Given the description of an element on the screen output the (x, y) to click on. 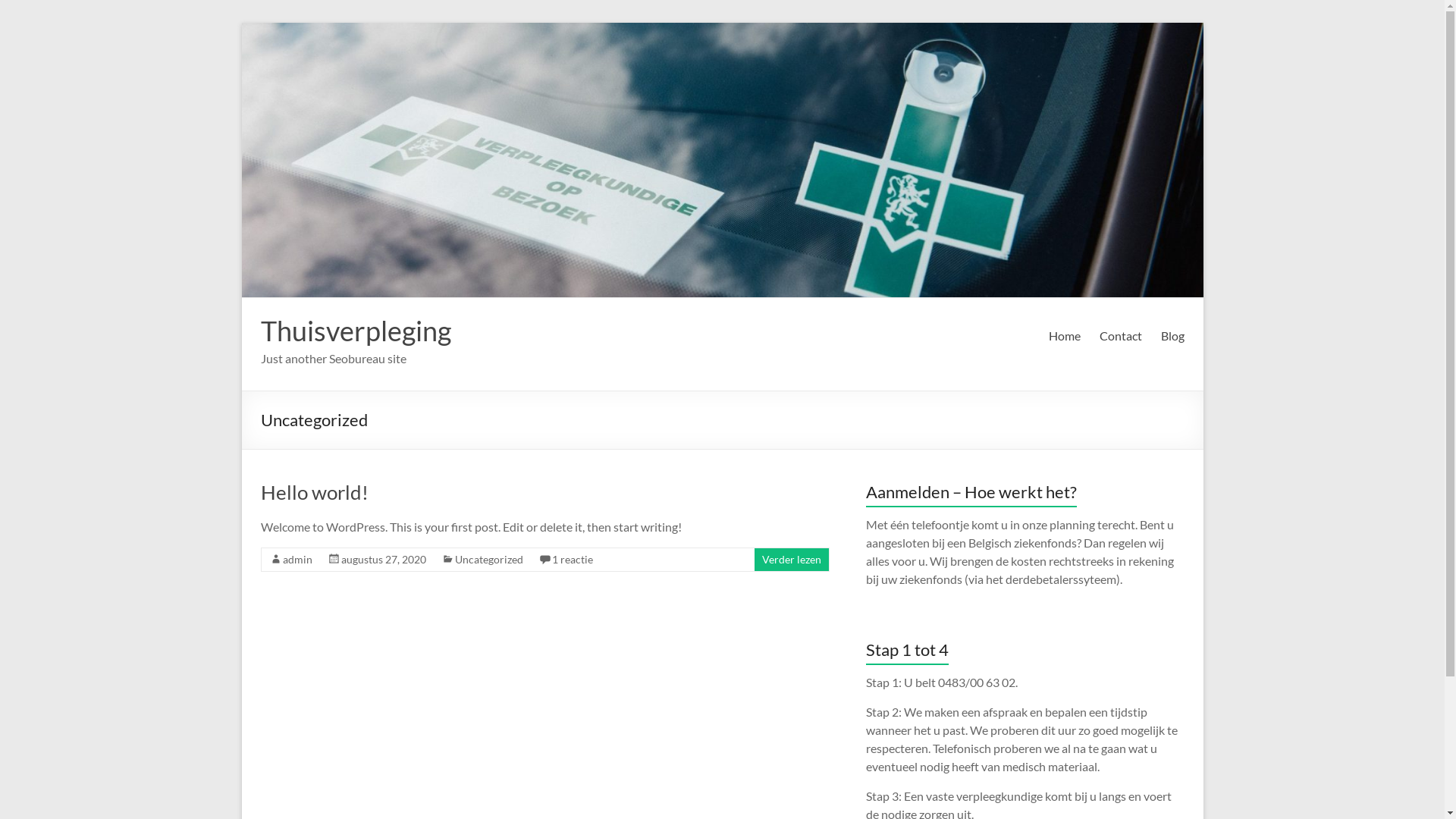
1 reactie Element type: text (572, 558)
Verder lezen Element type: text (790, 558)
Hello world! Element type: text (314, 492)
Blog Element type: text (1171, 335)
admin Element type: text (296, 558)
Contact Element type: text (1120, 335)
Home Element type: text (1063, 335)
Ga naar inhoud Element type: text (241, 21)
augustus 27, 2020 Element type: text (383, 558)
Thuisverpleging Element type: text (355, 330)
Uncategorized Element type: text (489, 558)
